Given the description of an element on the screen output the (x, y) to click on. 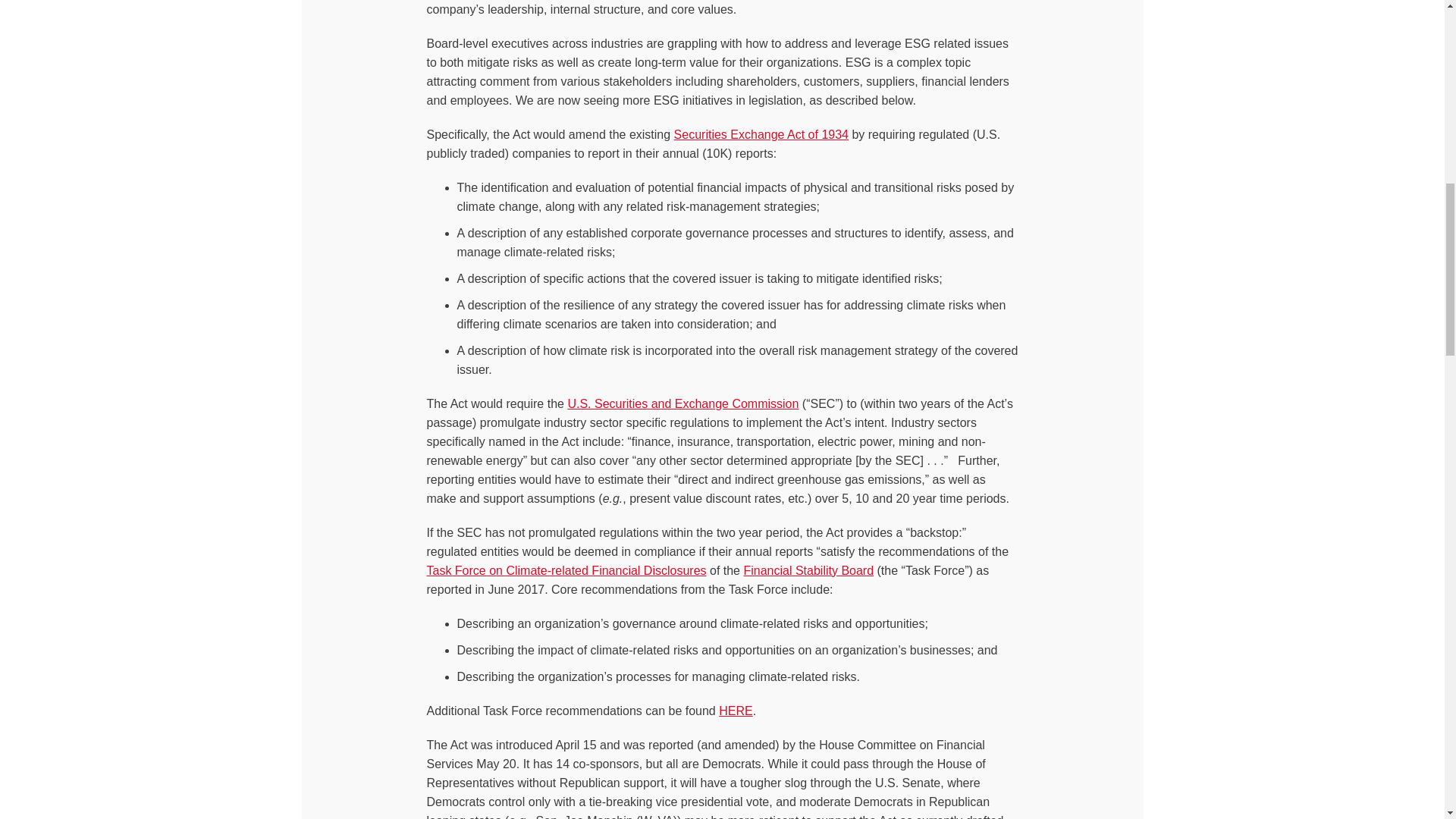
HERE (735, 710)
Task Force on Climate-related Financial Disclosures (566, 570)
Financial Stability Board (807, 570)
Securities Exchange Act of 1934 (761, 133)
U.S. Securities and Exchange Commission (682, 403)
